Given the description of an element on the screen output the (x, y) to click on. 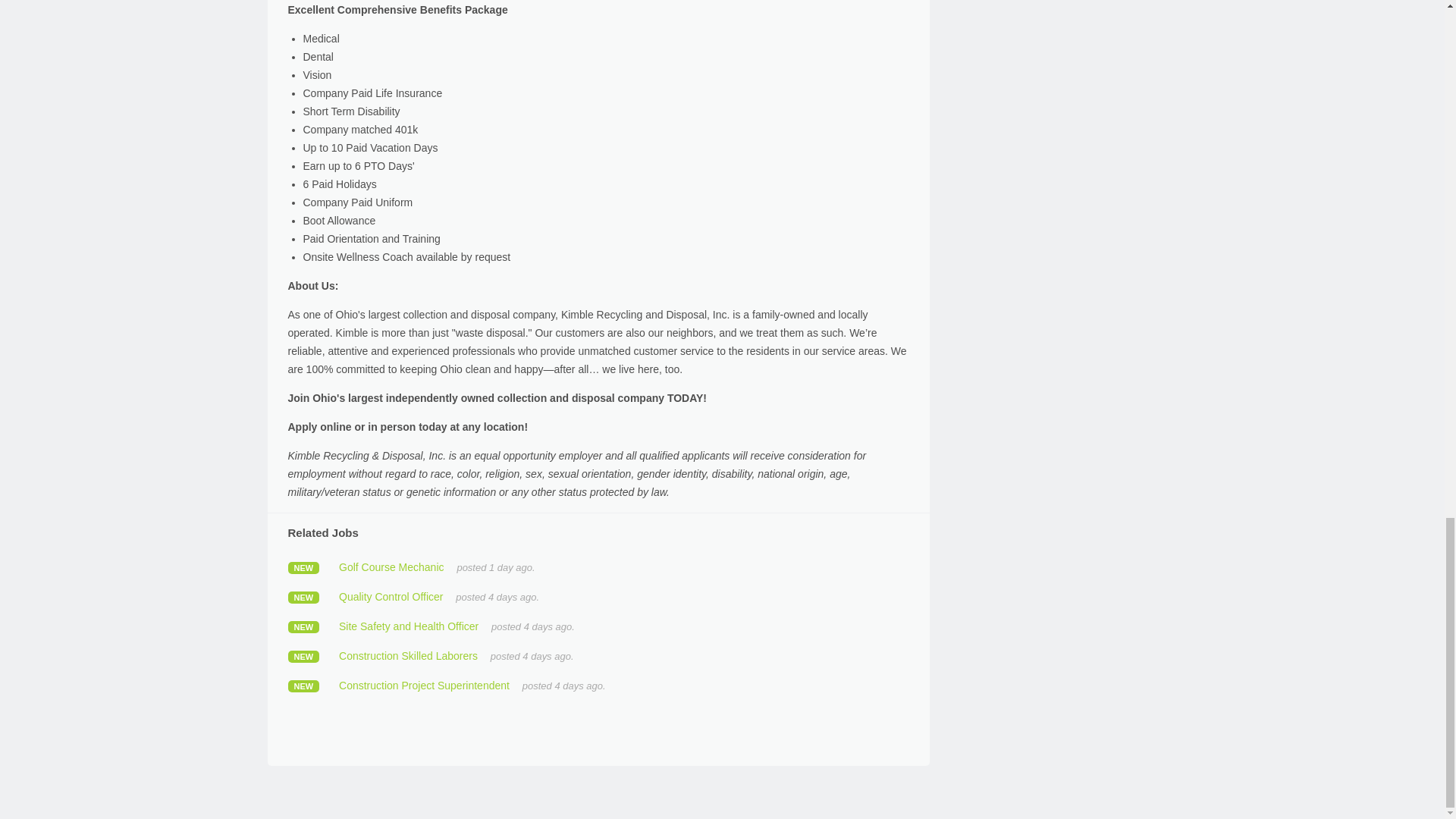
Quality Control Officer (390, 596)
Site Safety and Health Officer (409, 625)
Construction Project Superintendent (424, 685)
Golf Course Mechanic (391, 567)
Construction Skilled Laborers (408, 655)
